Given the description of an element on the screen output the (x, y) to click on. 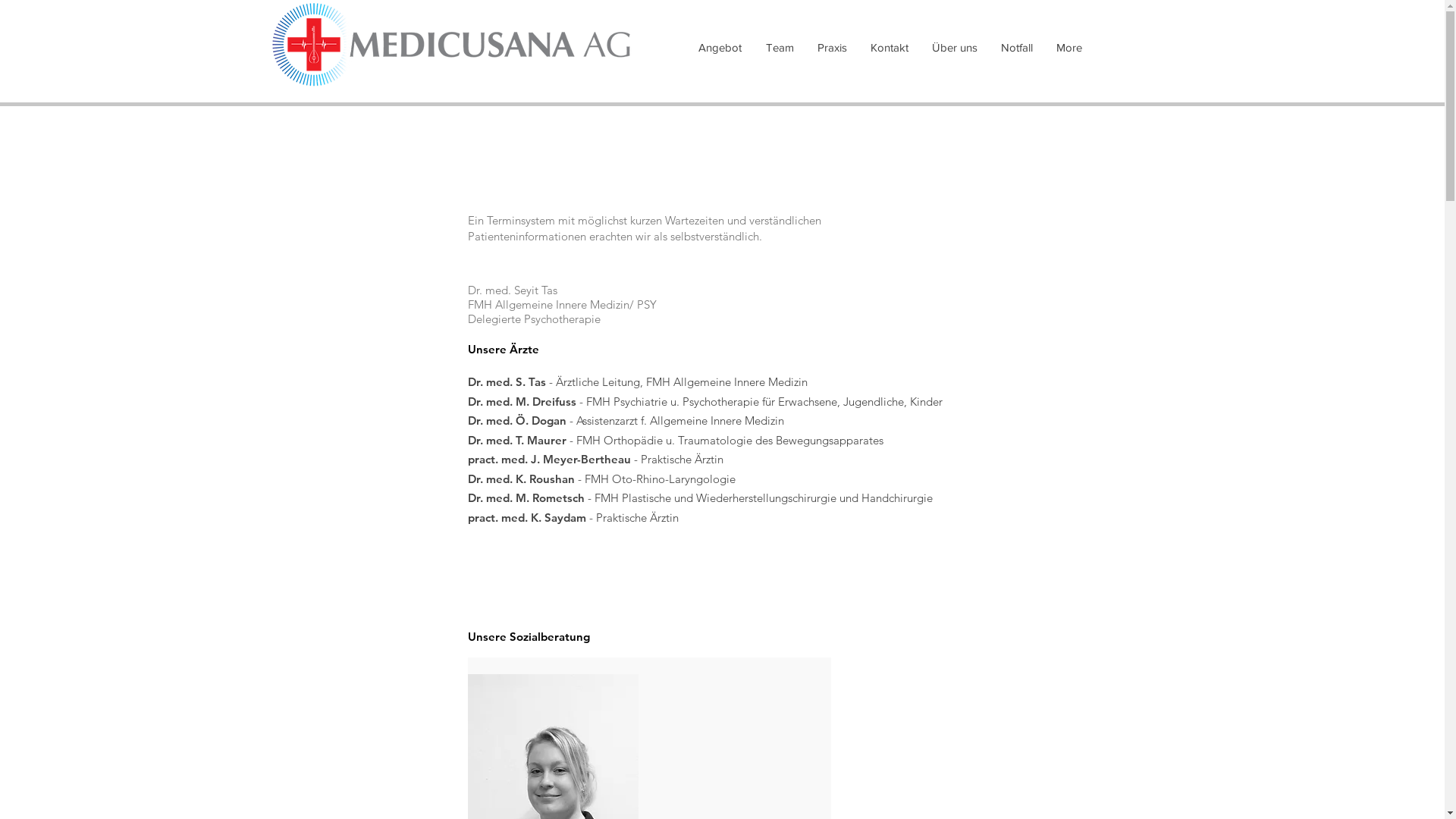
Notfall Element type: text (1016, 47)
Praxis Element type: text (831, 47)
Team Element type: text (779, 47)
Angebot Element type: text (719, 47)
Kontakt Element type: text (888, 47)
